Given the description of an element on the screen output the (x, y) to click on. 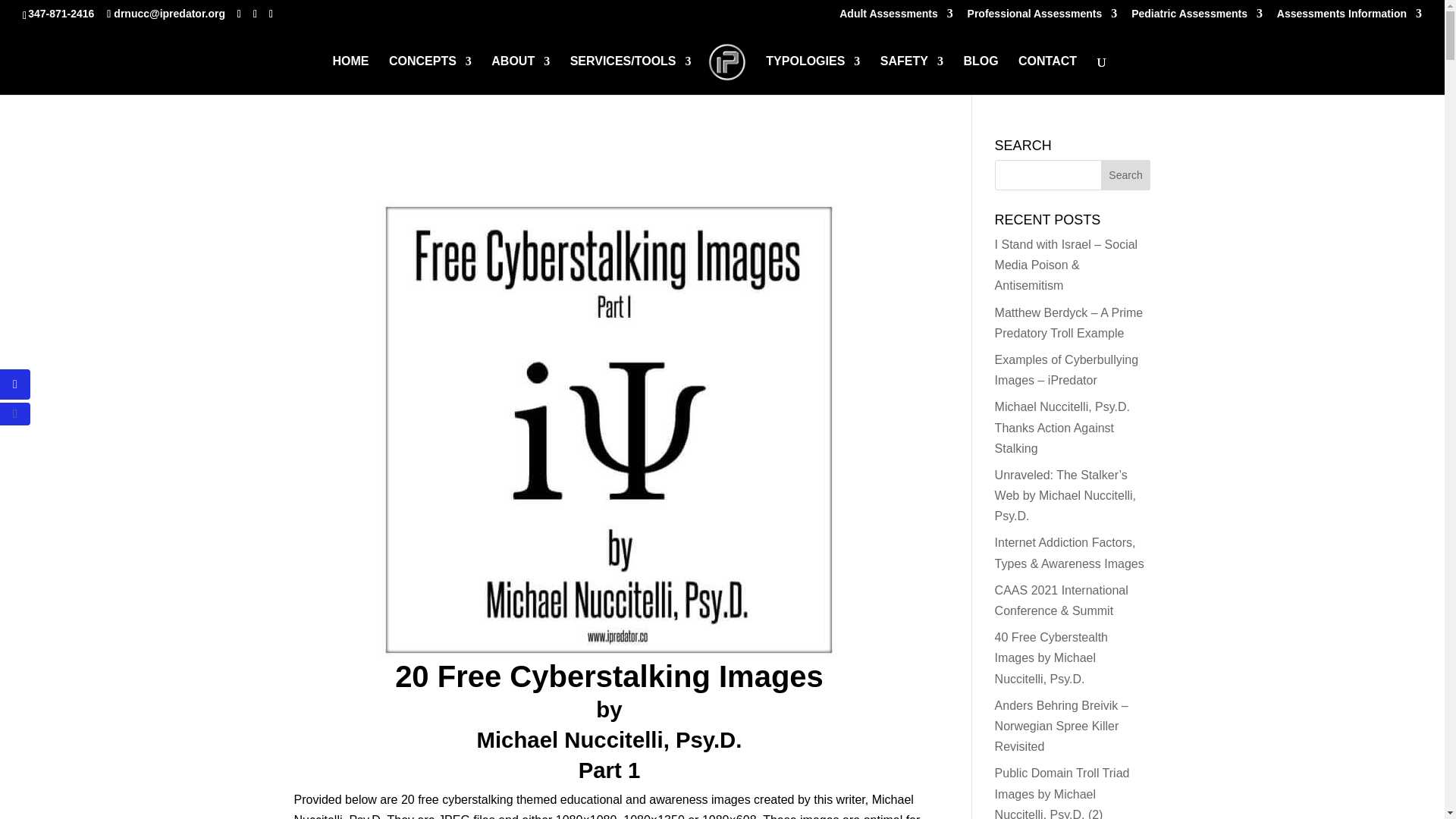
Adult Assessments (896, 16)
Pediatric Assessments (1196, 16)
Assessments Information (1349, 16)
Search (1125, 174)
Professional Assessments (1043, 16)
